Given the description of an element on the screen output the (x, y) to click on. 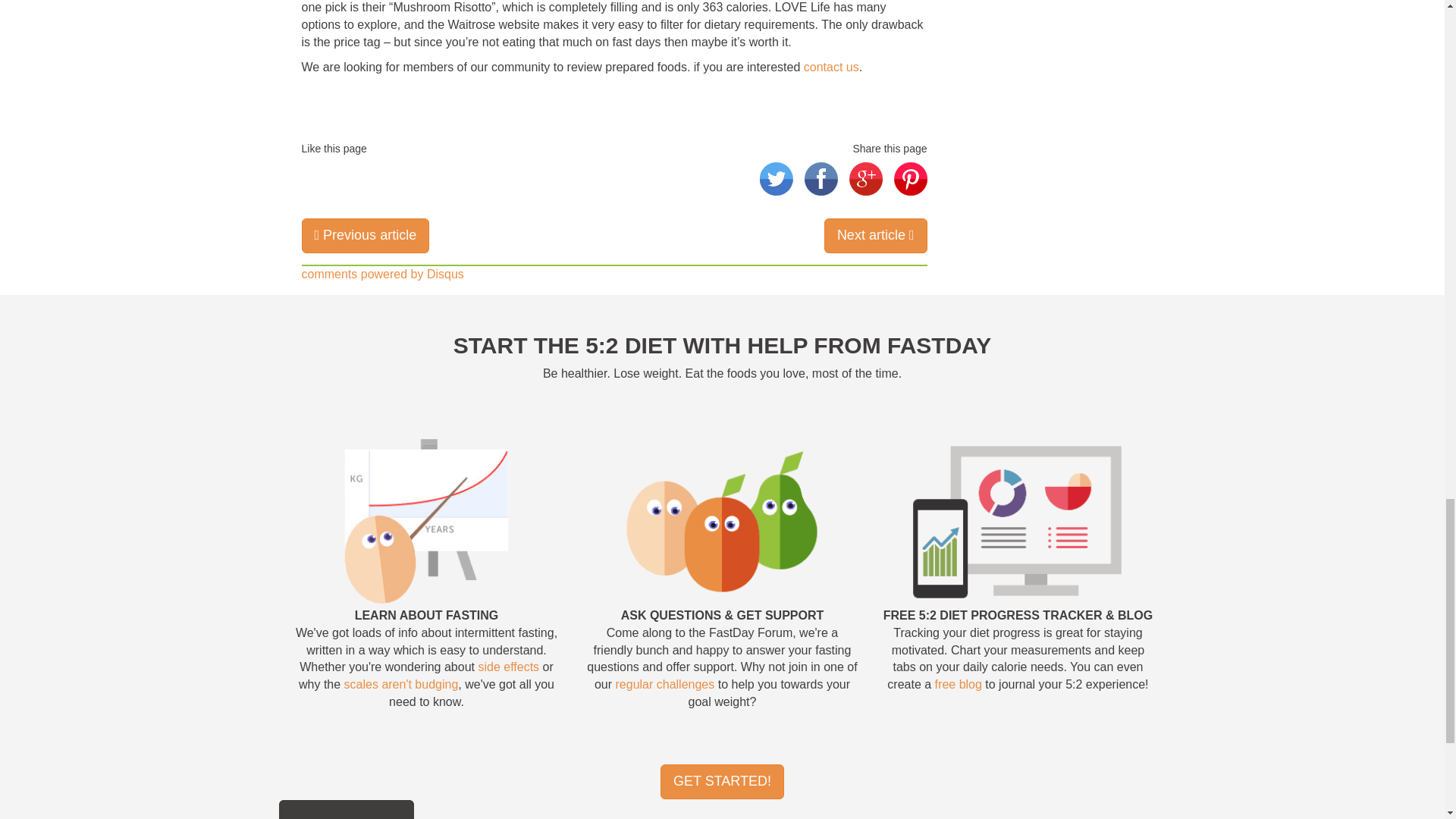
contact us (831, 66)
Previous article (365, 235)
side effects (507, 666)
Next article (875, 235)
comments powered by Disqus (382, 273)
scales aren't budging (400, 684)
